Given the description of an element on the screen output the (x, y) to click on. 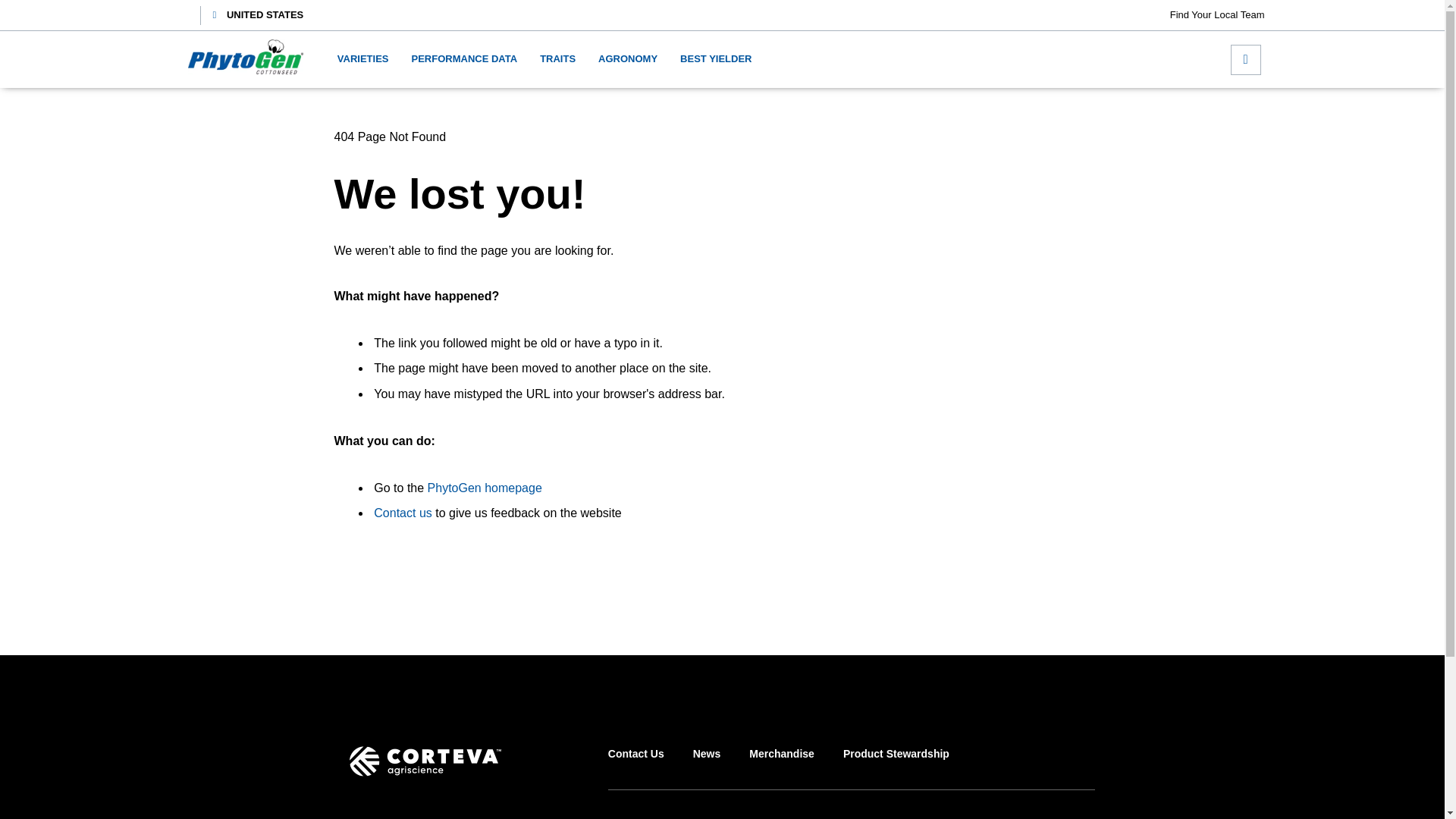
US Privacy Notice (878, 818)
TRAITS (557, 58)
Terms of Use (651, 818)
Contact us (402, 512)
Find Your Local Team (1217, 14)
Terms of Use (651, 818)
BEST YIELDER (715, 58)
Product Stewardship (896, 767)
PhytoGen homepage (484, 487)
Product Stewardship (896, 767)
